Given the description of an element on the screen output the (x, y) to click on. 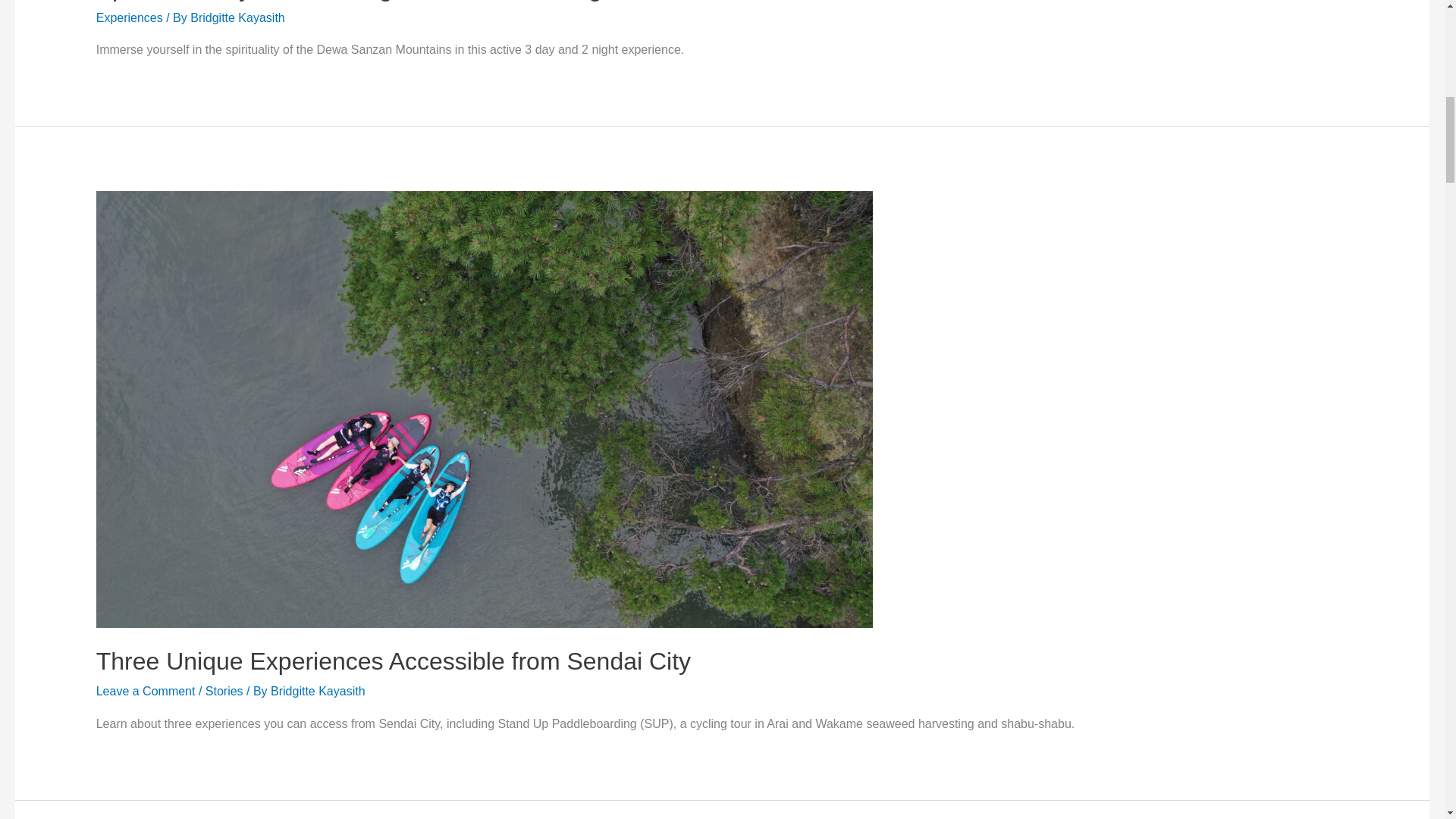
Bridgitte Kayasith (237, 17)
Stories (224, 690)
Experiences (129, 17)
View all posts by Bridgitte Kayasith (317, 690)
Bridgitte Kayasith (317, 690)
Three Unique Experiences Accessible from Sendai City (393, 660)
Leave a Comment (145, 690)
View all posts by Bridgitte Kayasith (237, 17)
